Given the description of an element on the screen output the (x, y) to click on. 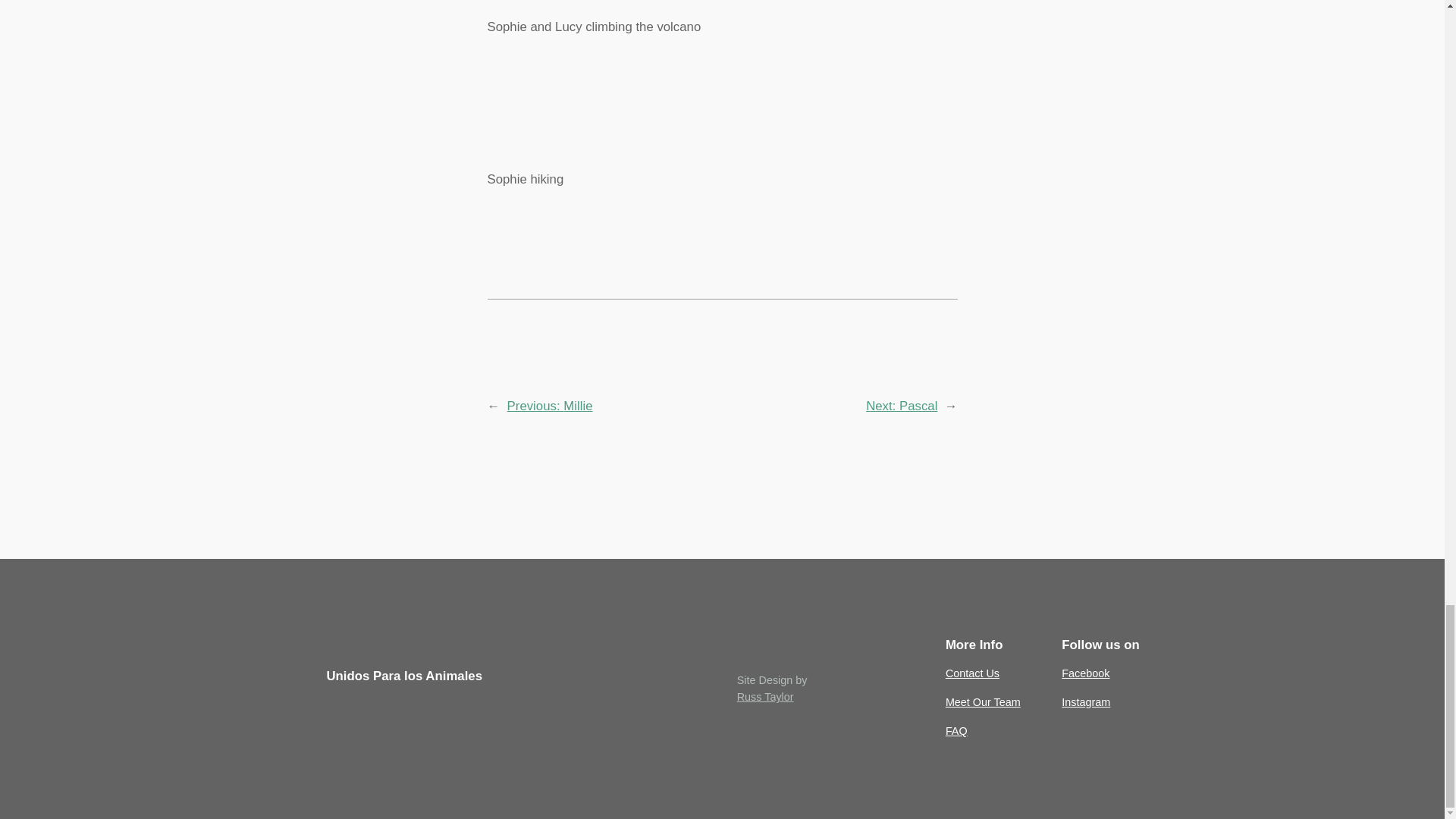
Unidos Para los Animales (403, 676)
Contact Us (971, 673)
Russ Taylor (764, 696)
Previous: Millie (549, 405)
Instagram (1085, 701)
Facebook (1085, 673)
Meet Our Team (982, 701)
Next: Pascal (901, 405)
FAQ (956, 730)
